Given the description of an element on the screen output the (x, y) to click on. 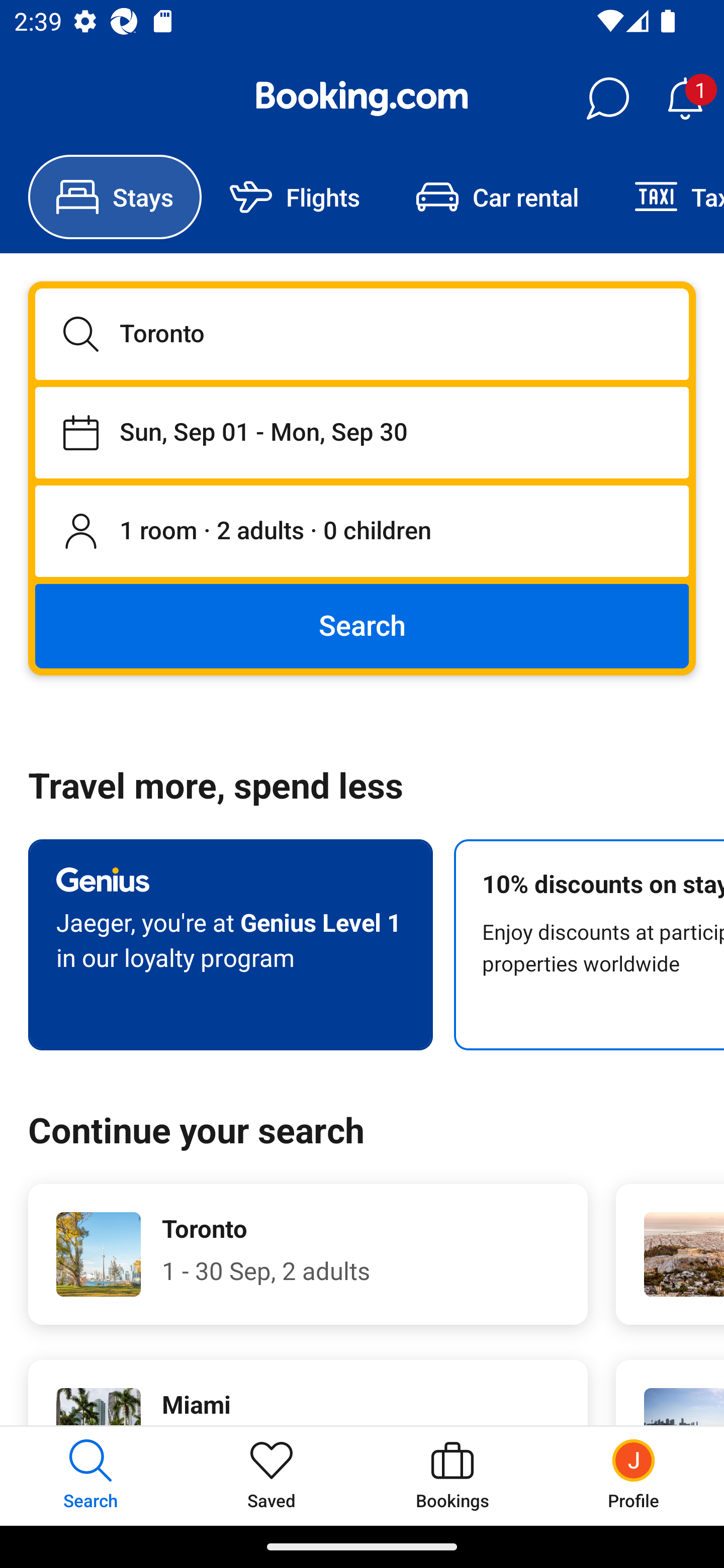
Messages (607, 98)
Notifications (685, 98)
Stays (114, 197)
Flights (294, 197)
Car rental (497, 197)
Taxi (665, 197)
Toronto (361, 333)
Staying from Sun, Sep 01 until Mon, Sep 30 (361, 432)
1 room, 2 adults, 0 children (361, 531)
Search (361, 625)
Toronto 1 - 30 Sep, 2 adults (307, 1253)
Saved (271, 1475)
Bookings (452, 1475)
Profile (633, 1475)
